Given the description of an element on the screen output the (x, y) to click on. 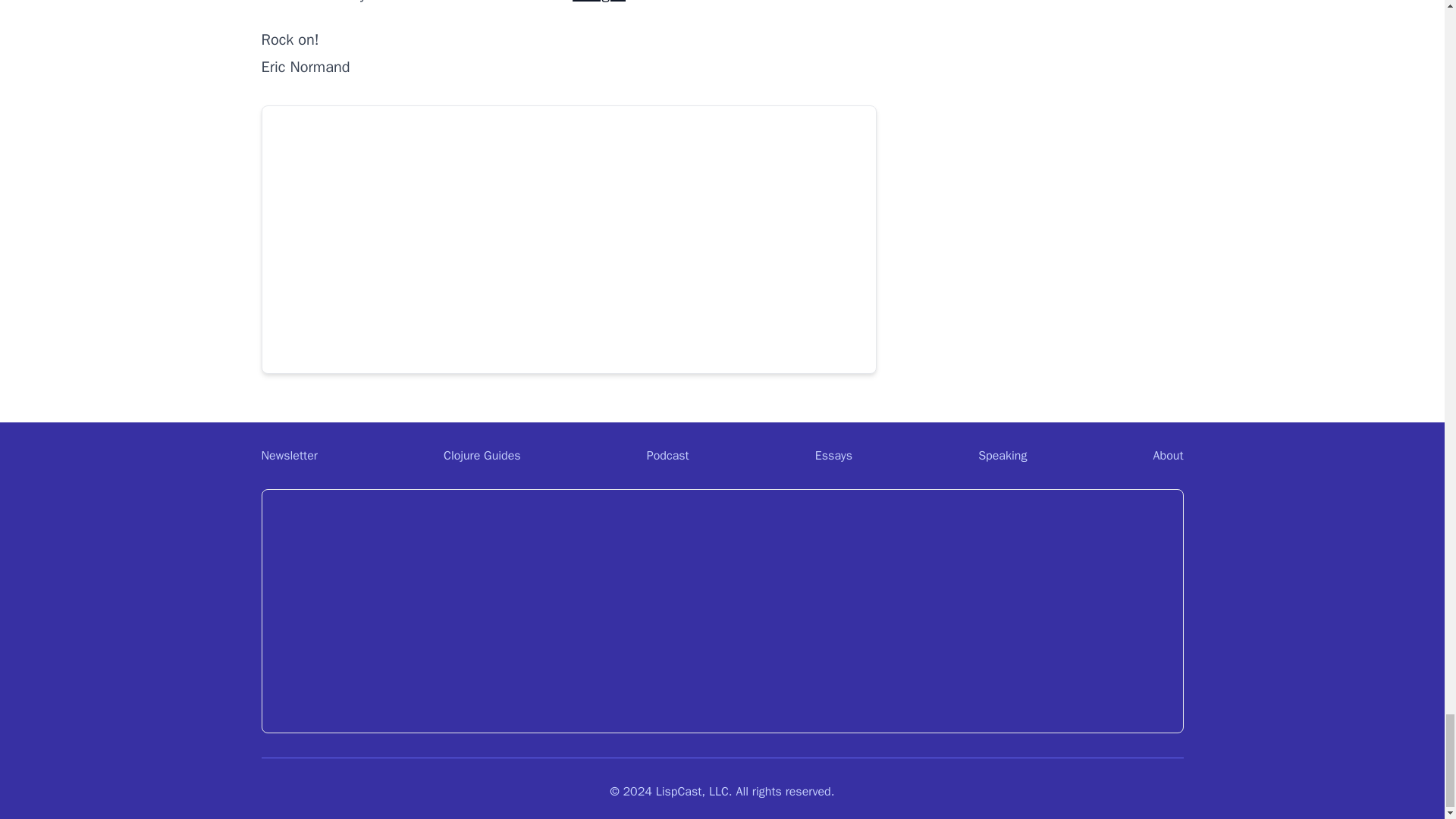
About (1168, 455)
Speaking (1002, 455)
Podcast (667, 455)
this gist (599, 2)
Essays (833, 455)
Newsletter (288, 455)
Clojure Guides (482, 455)
